Given the description of an element on the screen output the (x, y) to click on. 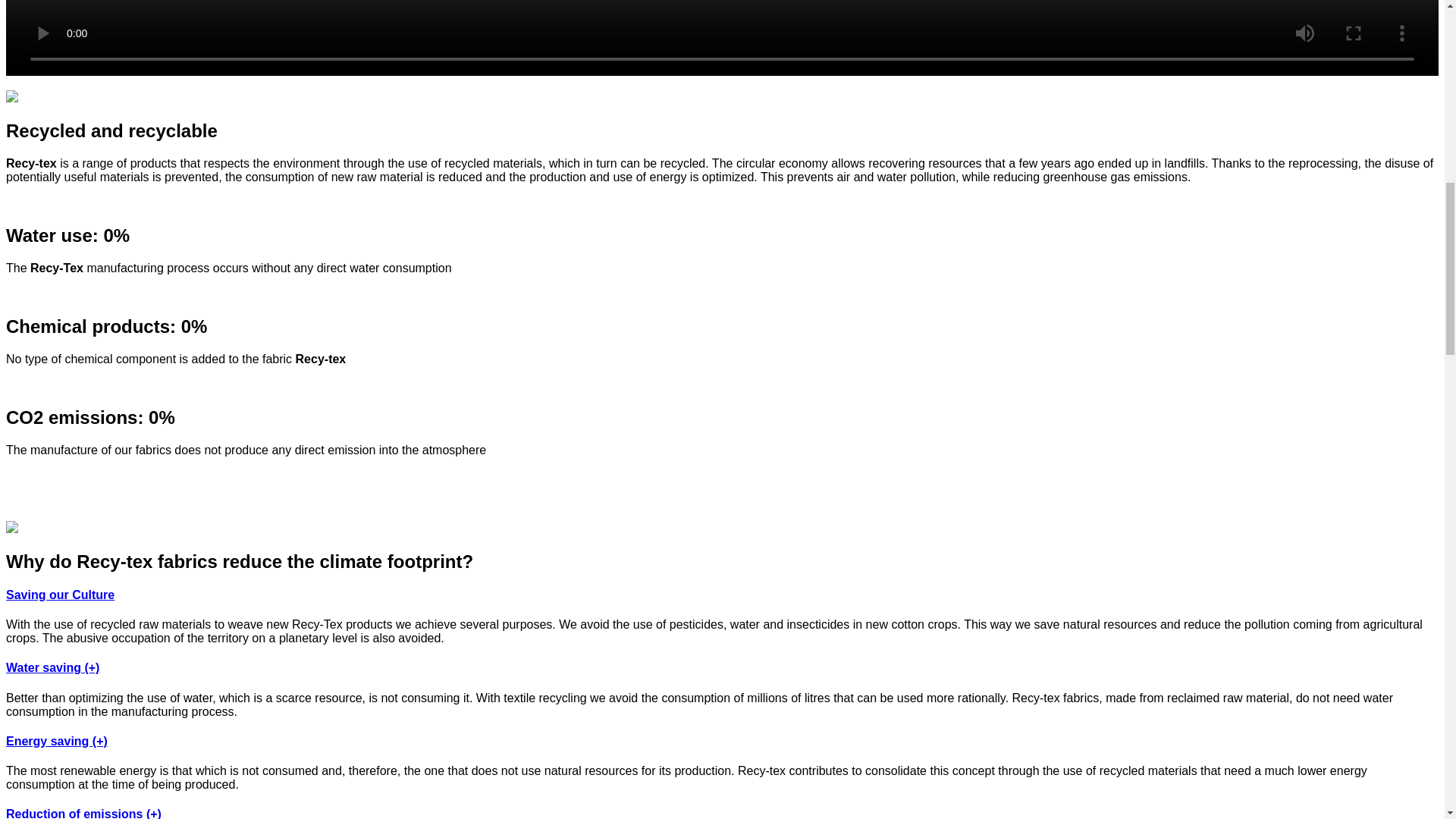
Saving our Culture (60, 594)
